Given the description of an element on the screen output the (x, y) to click on. 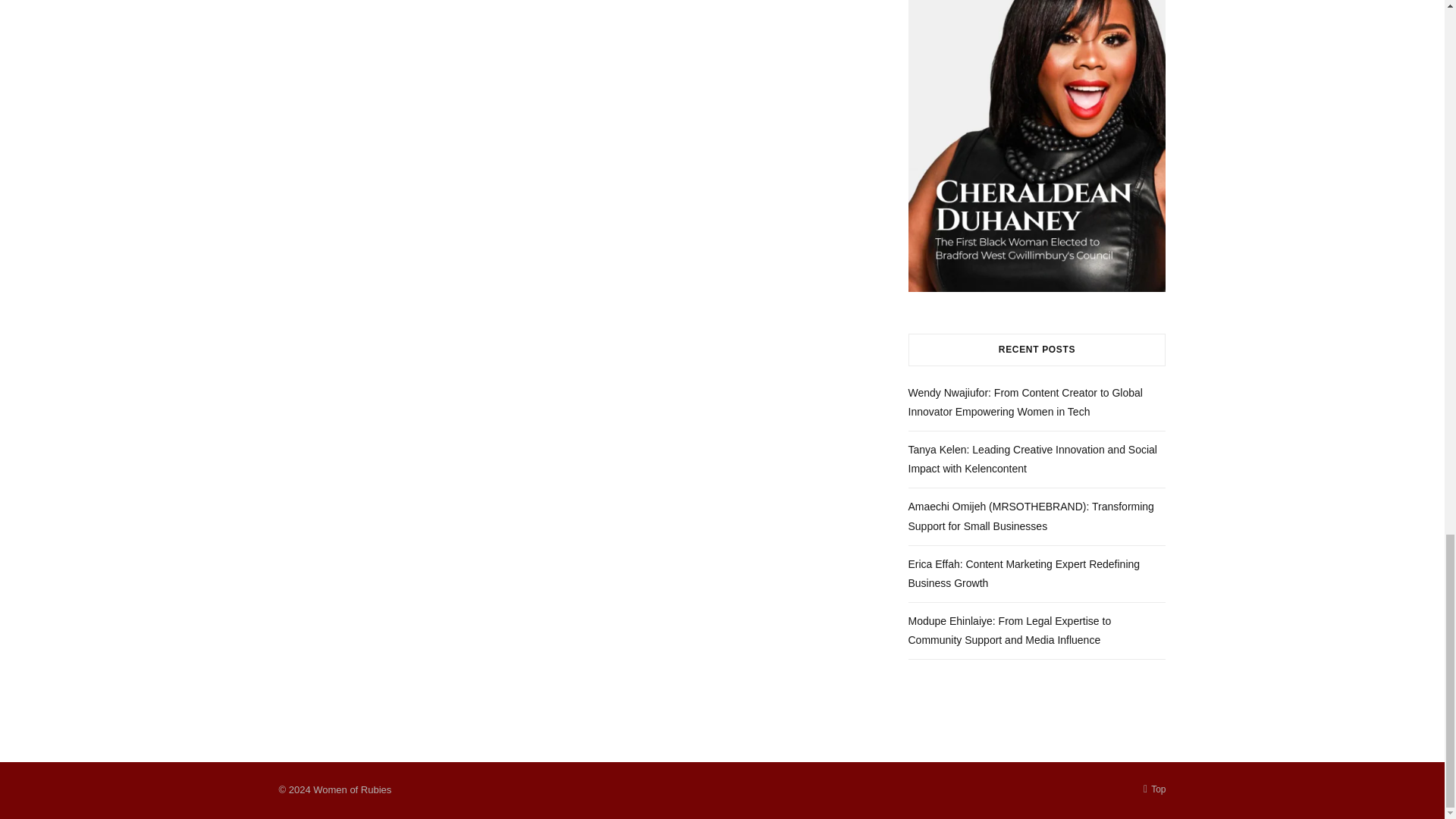
Top (1154, 789)
